Given the description of an element on the screen output the (x, y) to click on. 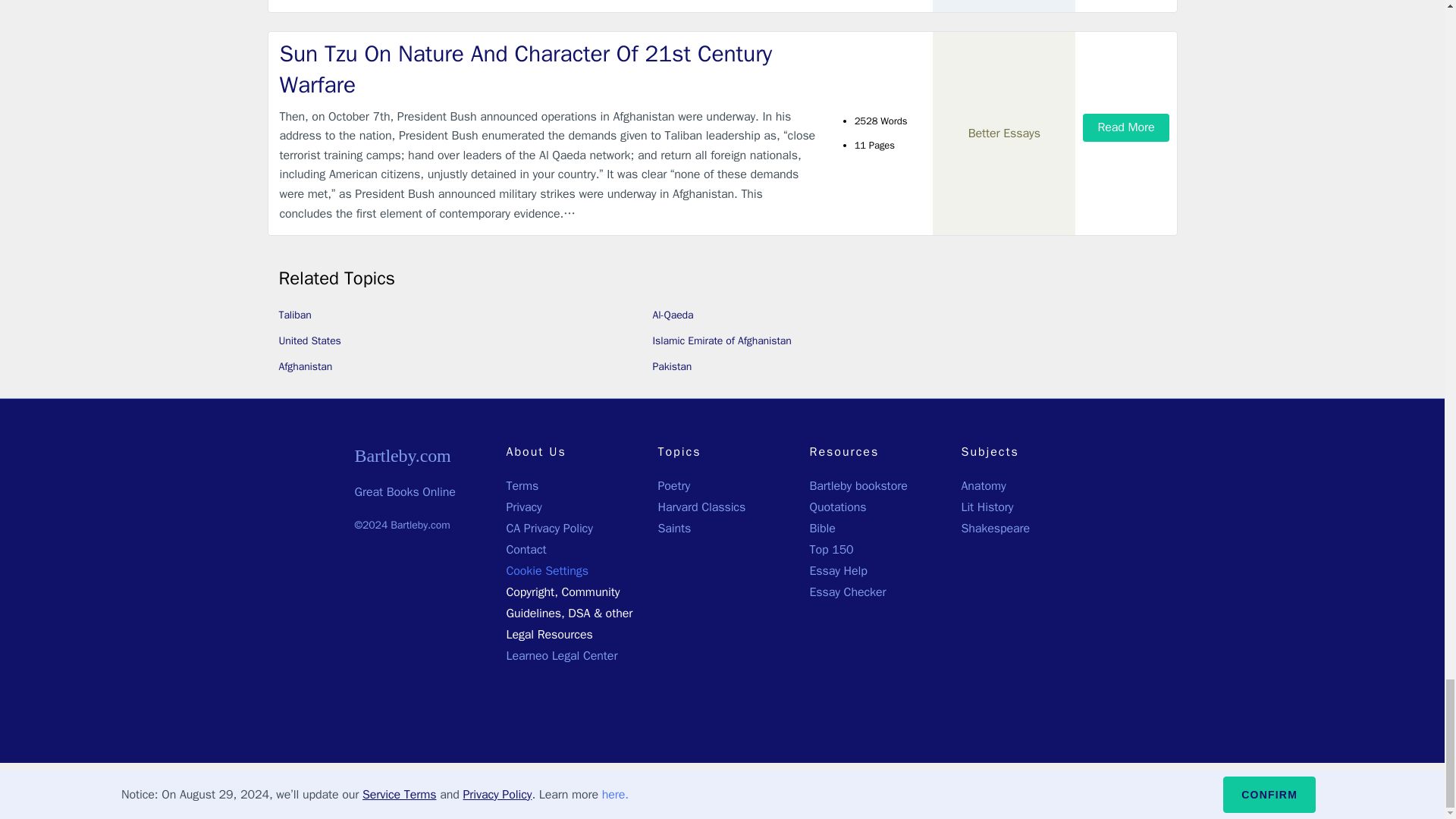
Al-Qaeda (672, 314)
Afghanistan (306, 366)
Pakistan (671, 366)
United States (309, 340)
Islamic Emirate of Afghanistan (721, 340)
Taliban (295, 314)
